Given the description of an element on the screen output the (x, y) to click on. 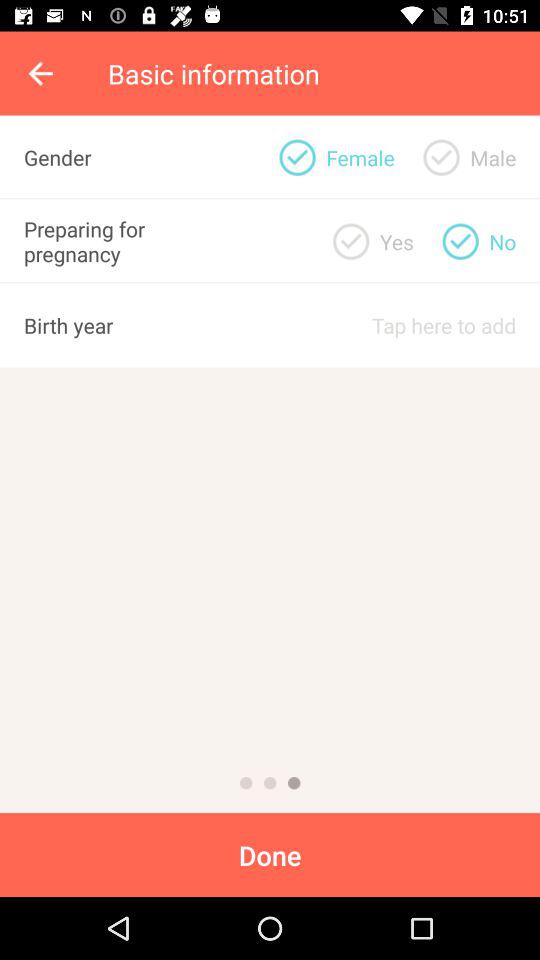
open the icon above no item (493, 157)
